Given the description of an element on the screen output the (x, y) to click on. 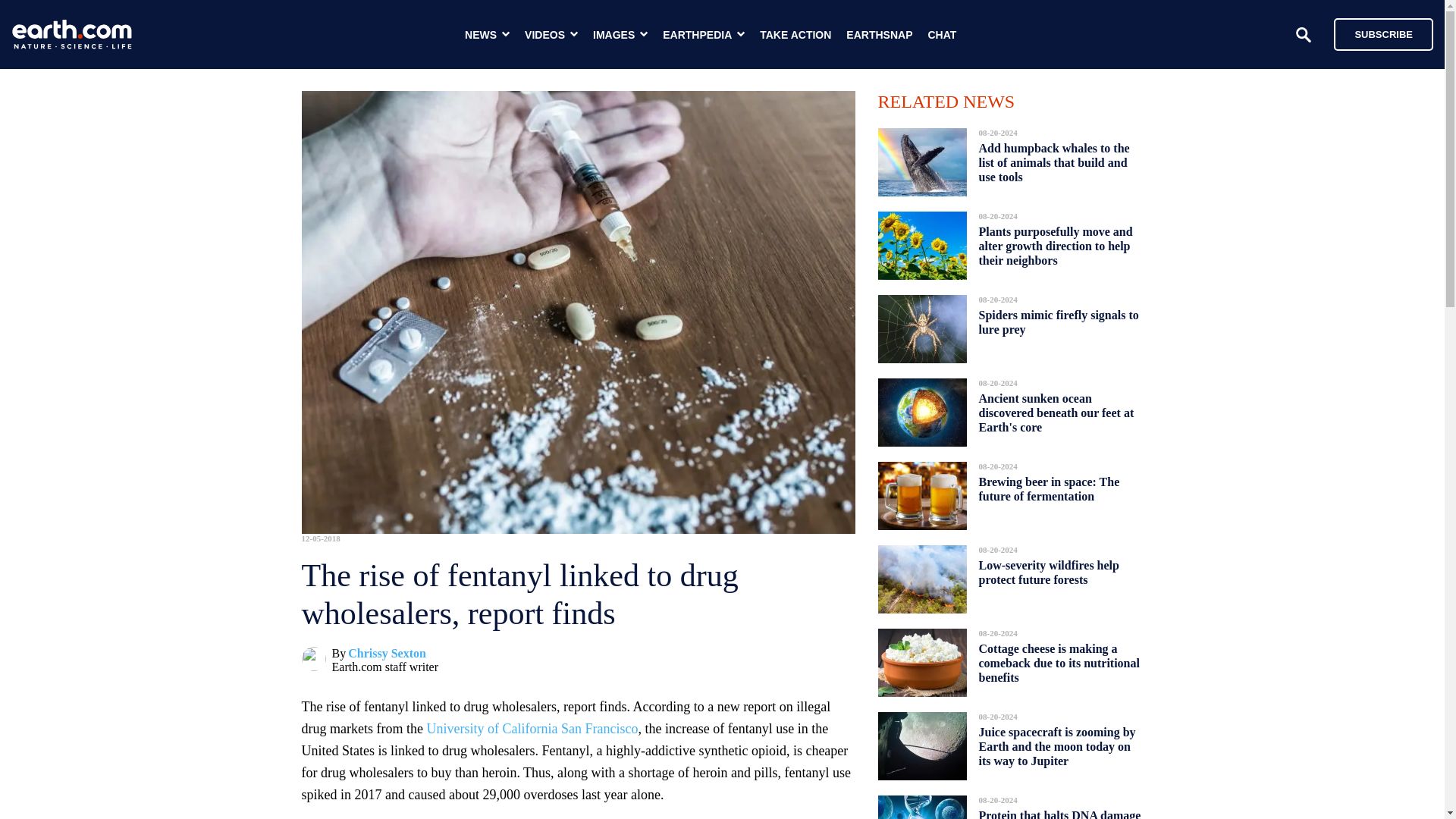
CHAT (941, 34)
EARTHSNAP (878, 34)
University of California San Francisco (531, 728)
Brewing beer in space: The future of fermentation (1048, 488)
Protein that halts DNA damage may lead to cancer vaccines (1059, 810)
Low-severity wildfires help protect future forests (1048, 572)
